Given the description of an element on the screen output the (x, y) to click on. 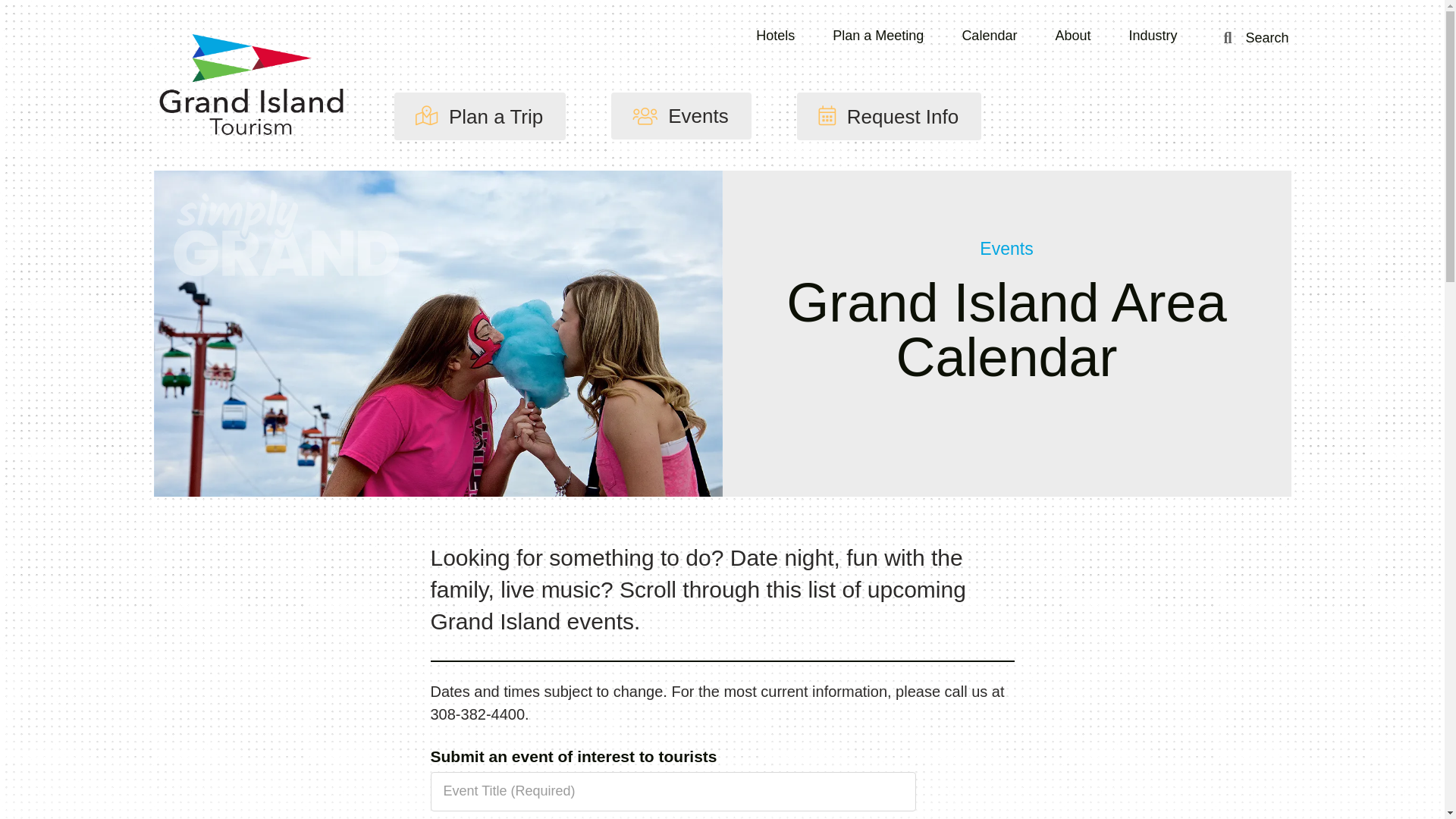
Plan a Meeting (877, 35)
Hotels (774, 35)
About (1072, 35)
Industry (1152, 35)
logo (249, 87)
Events (681, 115)
Calendar (988, 35)
Plan a Trip (480, 116)
Request Info (888, 116)
Event Submission (722, 783)
